Given the description of an element on the screen output the (x, y) to click on. 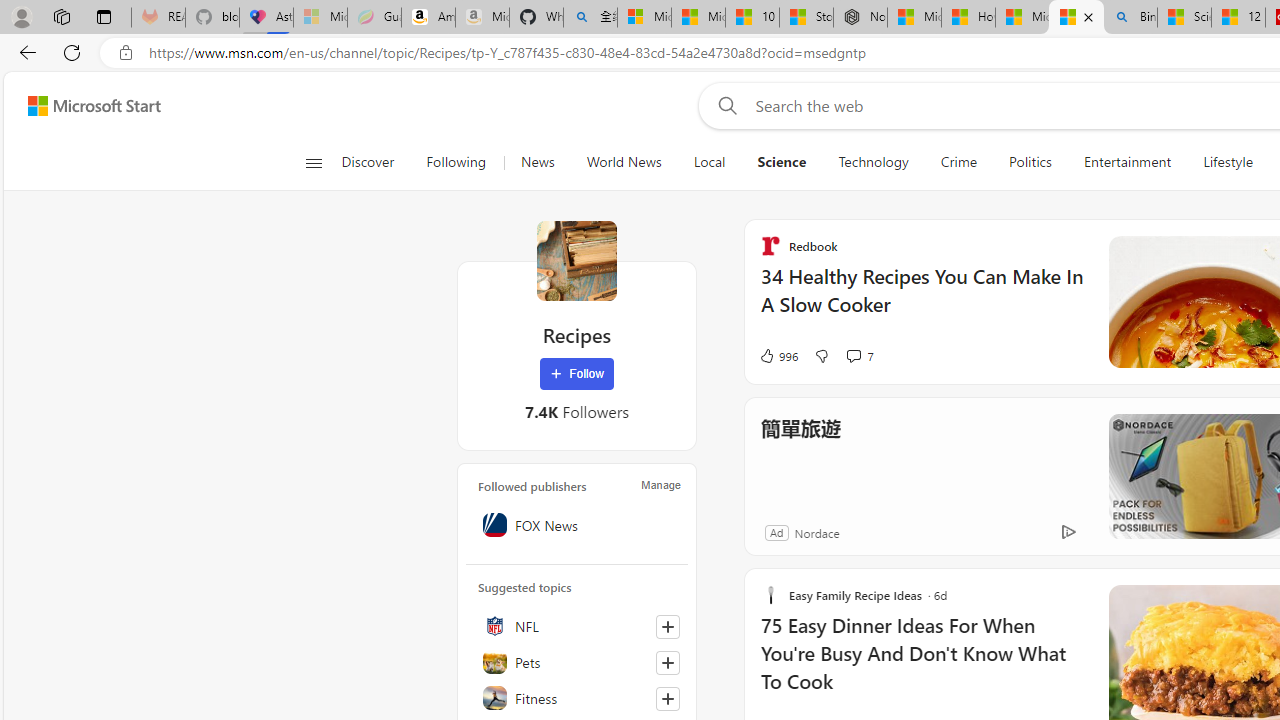
NFL (577, 625)
Recipes (576, 260)
Follow (577, 373)
Follow this topic (667, 698)
